Given the description of an element on the screen output the (x, y) to click on. 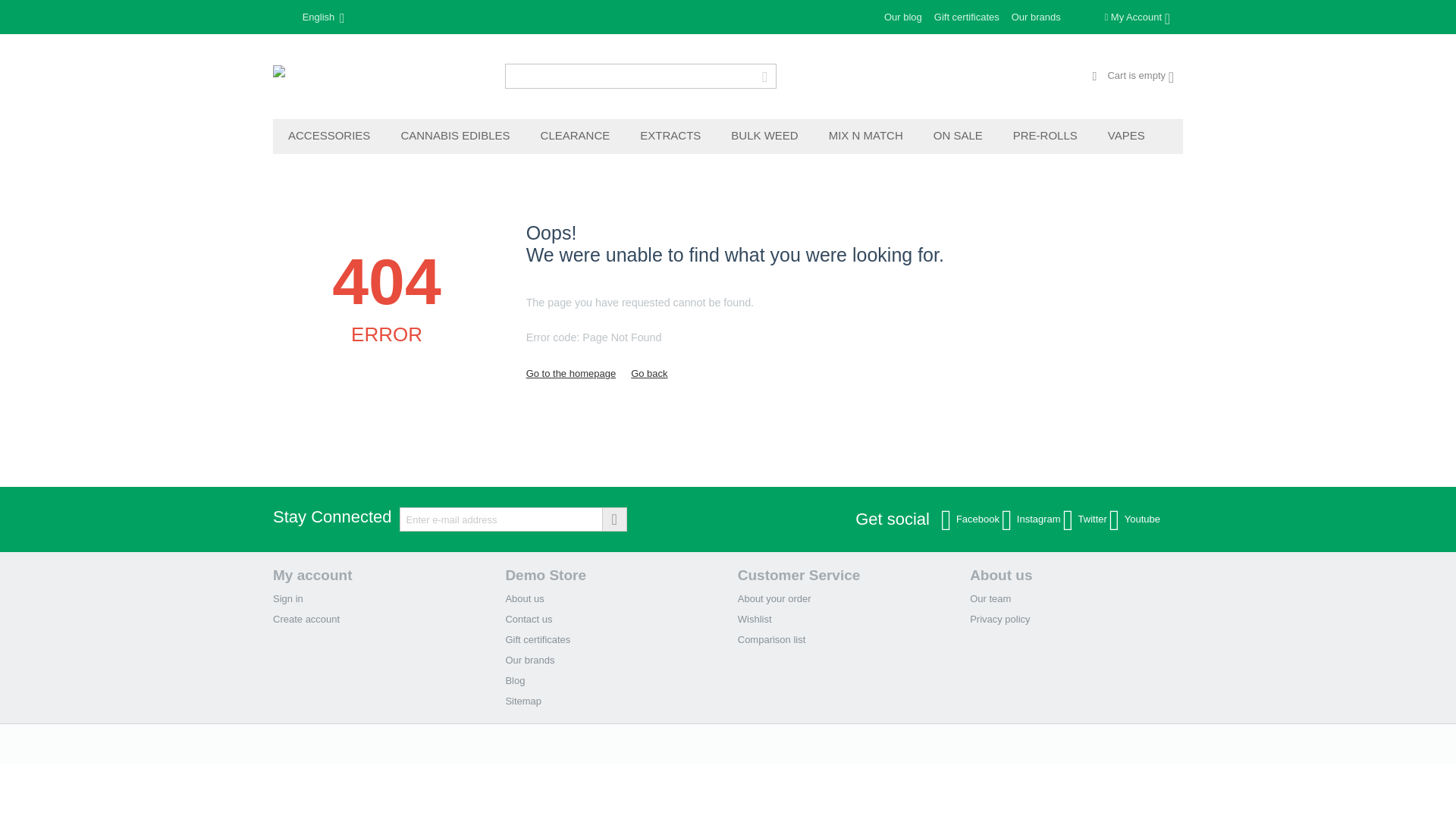
Enter e-mail address (512, 518)
Gift certificates (967, 16)
CANNABIS EDIBLES (454, 135)
420dealsclub.com (379, 76)
ACCESSORIES (329, 135)
Our brands (1036, 16)
English (314, 16)
 My Account (1136, 16)
Our blog (902, 16)
420dealsclub.com (379, 77)
